Given the description of an element on the screen output the (x, y) to click on. 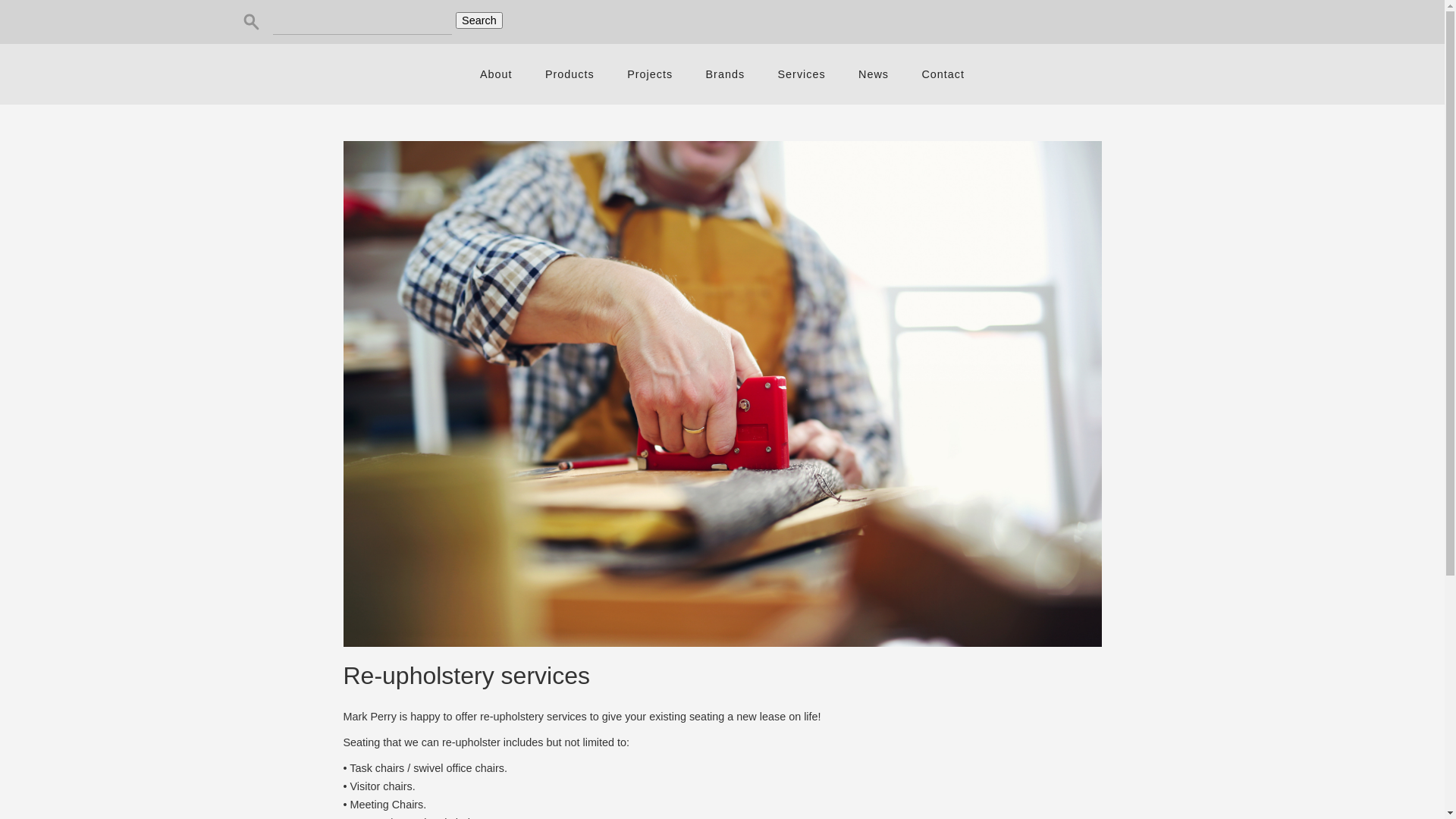
Contact Element type: text (942, 74)
Brands Element type: text (724, 74)
Projects Element type: text (649, 74)
Products Element type: text (569, 74)
Search Element type: text (478, 20)
Services Element type: text (801, 74)
News Element type: text (873, 74)
About Element type: text (496, 74)
